Given the description of an element on the screen output the (x, y) to click on. 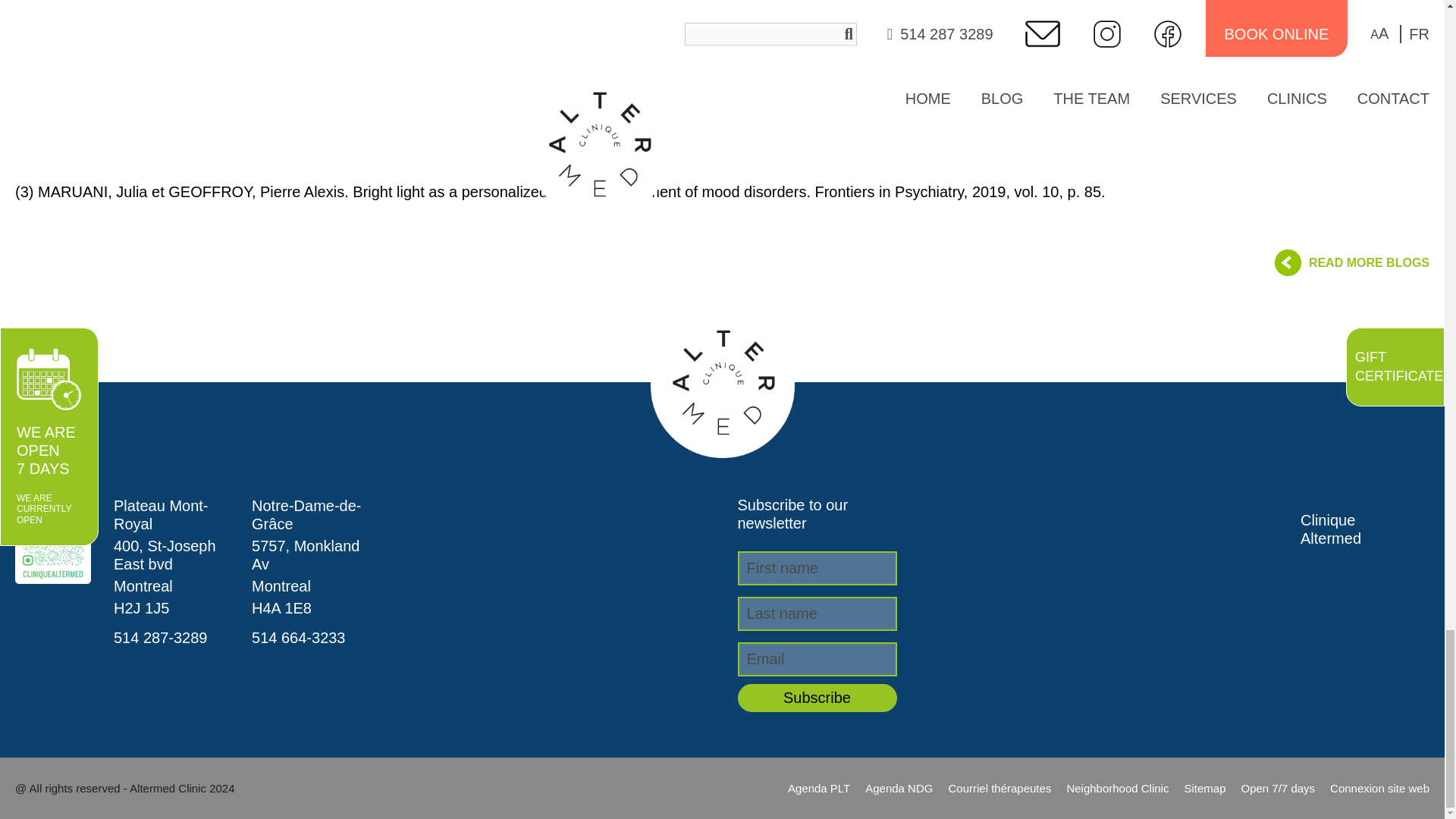
Subscribe (816, 697)
